Given the description of an element on the screen output the (x, y) to click on. 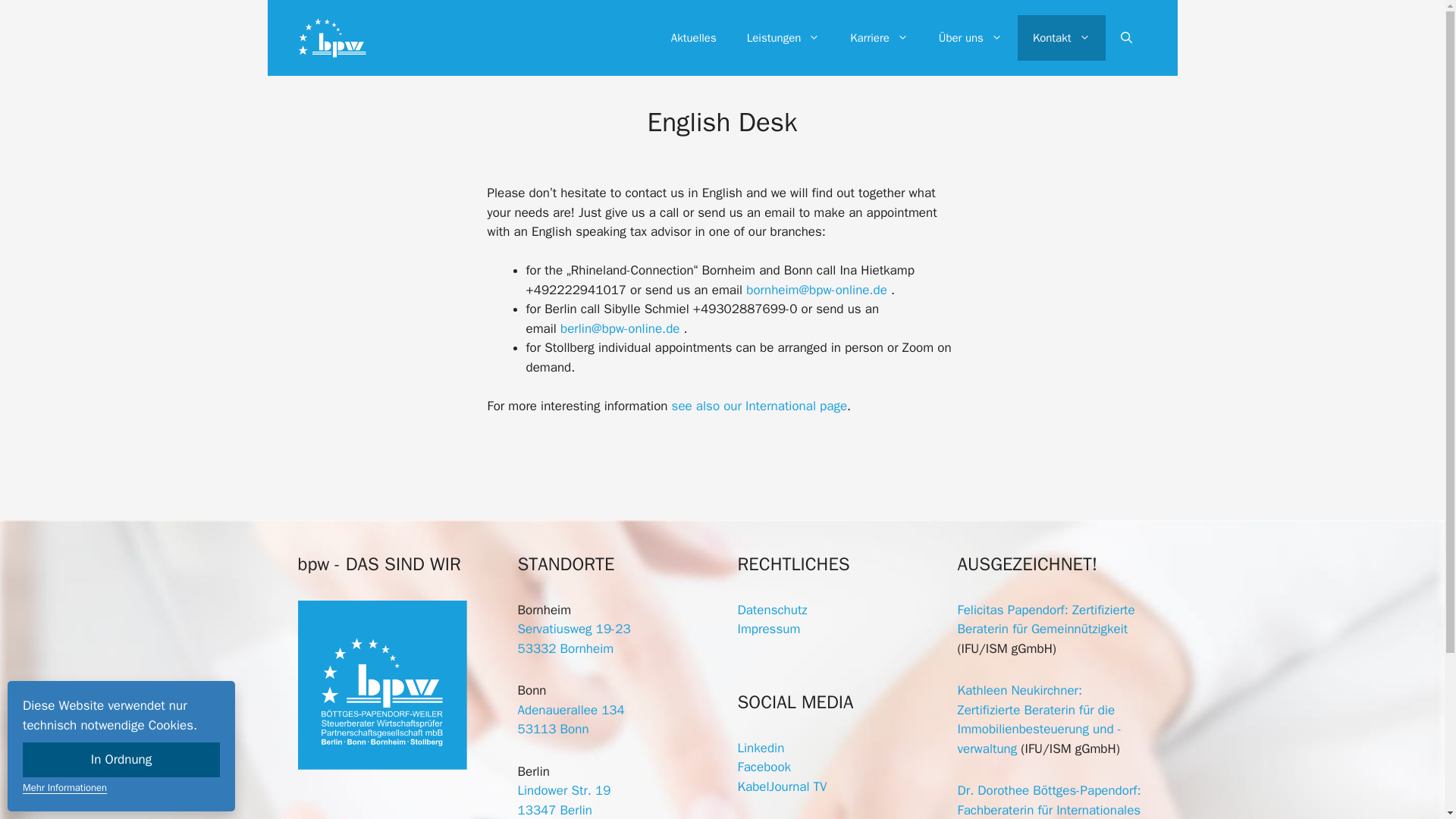
Kontakt (1061, 37)
Aktuelles (694, 37)
Karriere (878, 37)
Leistungen (783, 37)
